Given the description of an element on the screen output the (x, y) to click on. 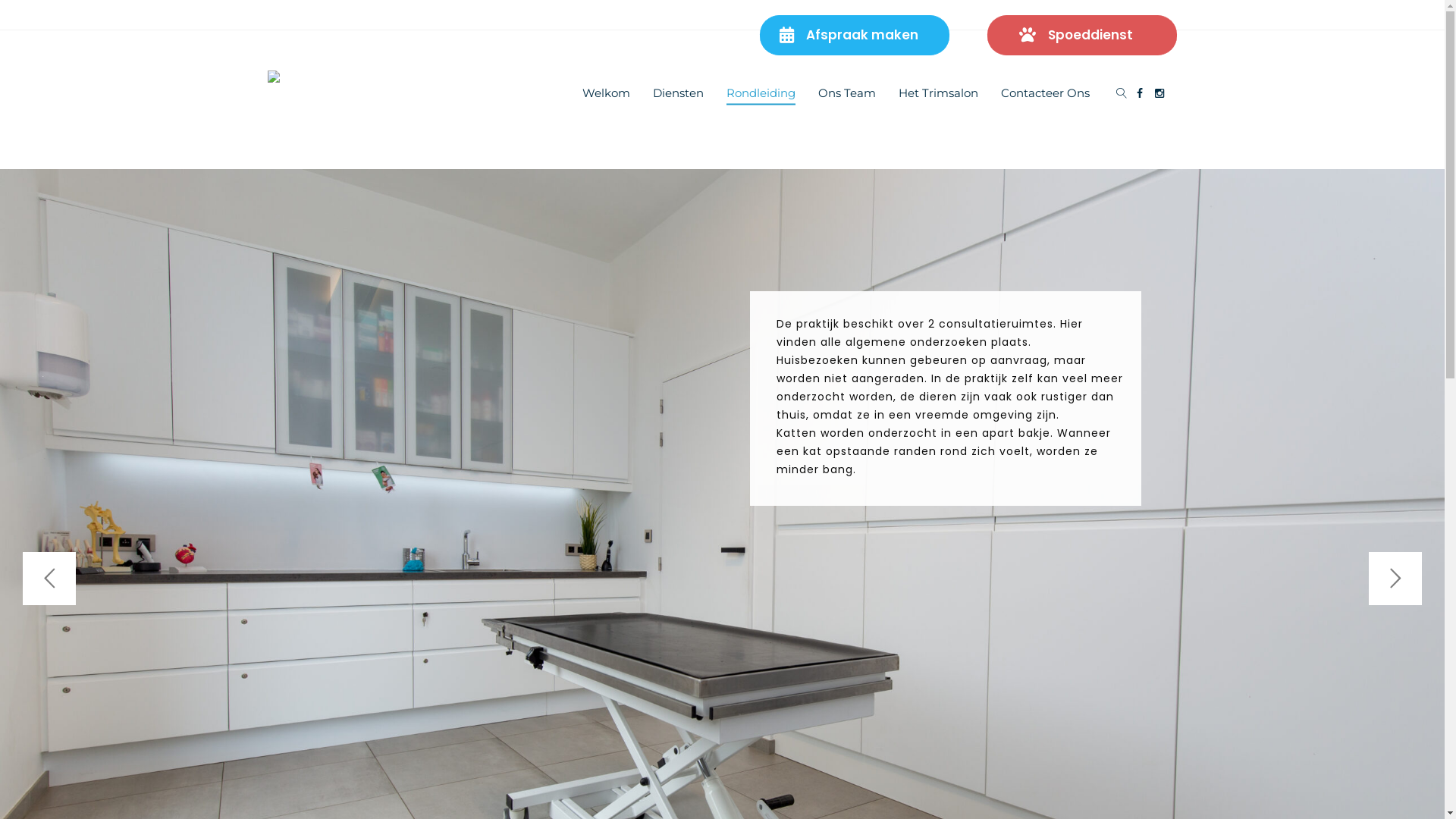
Afspraak maken Element type: text (854, 35)
Diensten Element type: text (677, 92)
Contacteer Ons Element type: text (1045, 92)
Ons Team Element type: text (846, 92)
Het Trimsalon Element type: text (937, 92)
Welkom Element type: text (606, 92)
Rondleiding Element type: text (760, 92)
Spoeddienst Element type: text (1081, 35)
